Given the description of an element on the screen output the (x, y) to click on. 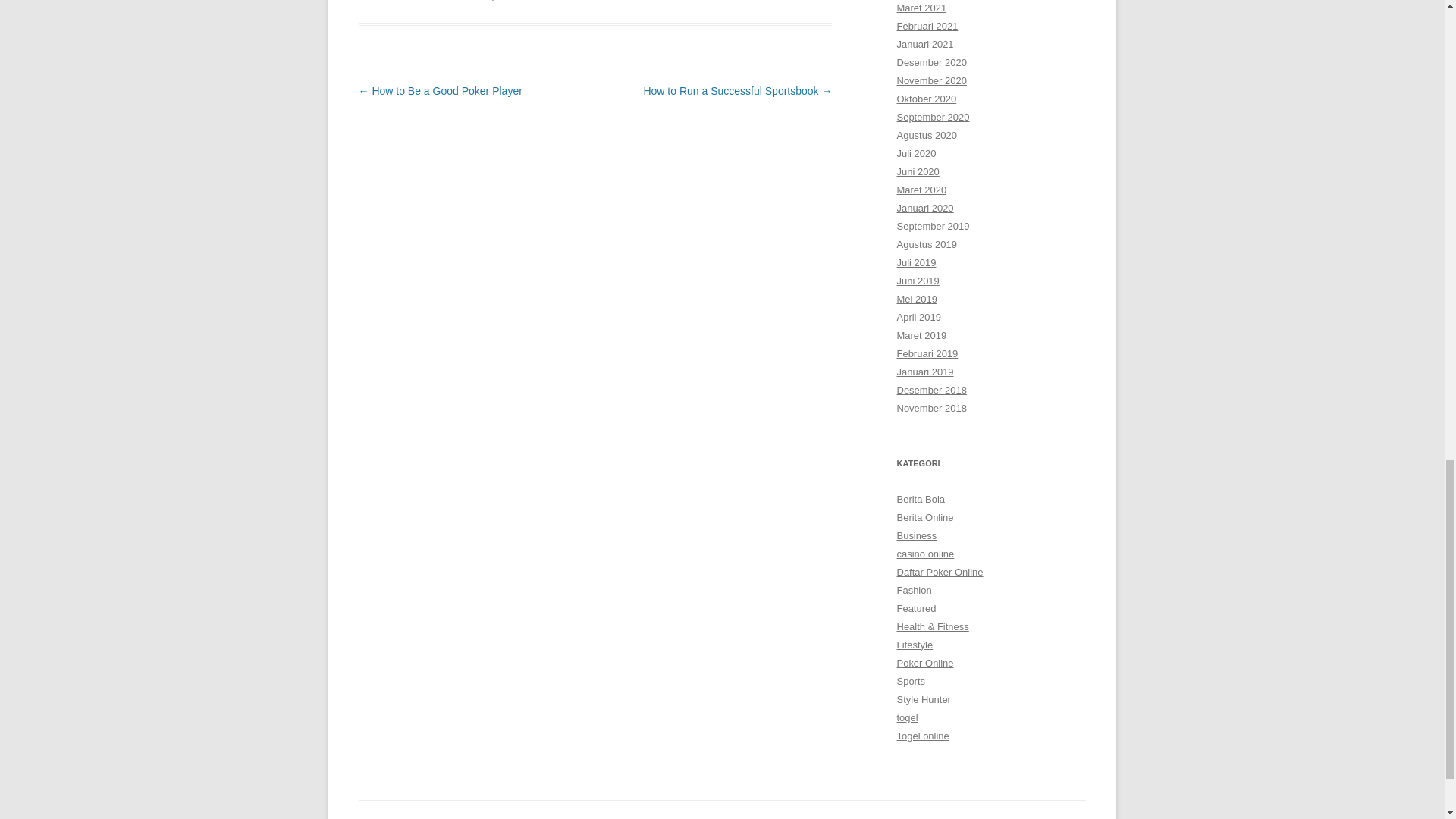
3:50 am (541, 0)
Berita Online (460, 0)
Juli 1, 2023 (541, 0)
